Given the description of an element on the screen output the (x, y) to click on. 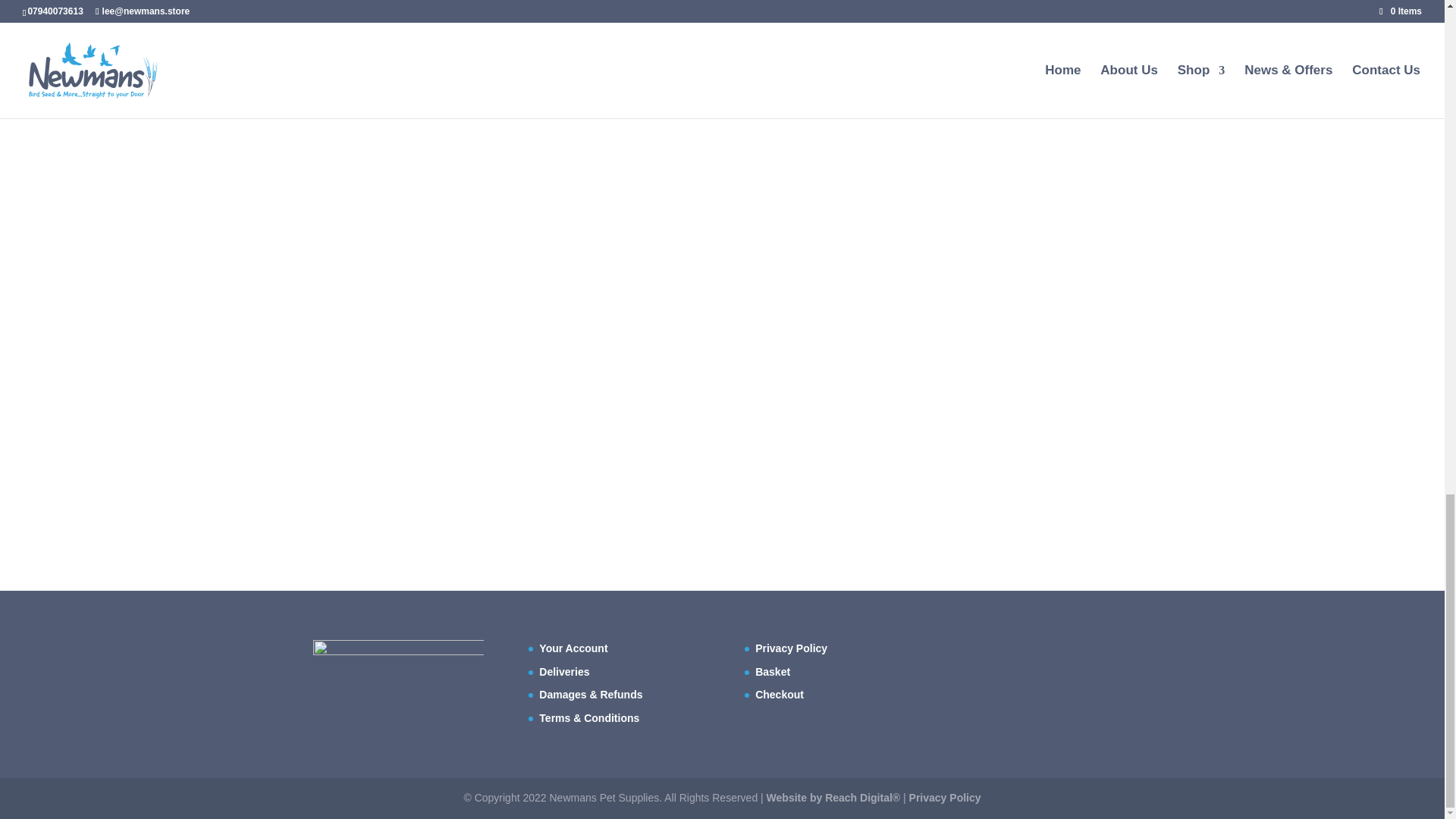
Basket (772, 671)
Privacy Policy (791, 648)
Your Account (572, 648)
Deliveries (563, 671)
Privacy Policy (944, 797)
Checkout (779, 694)
